Given the description of an element on the screen output the (x, y) to click on. 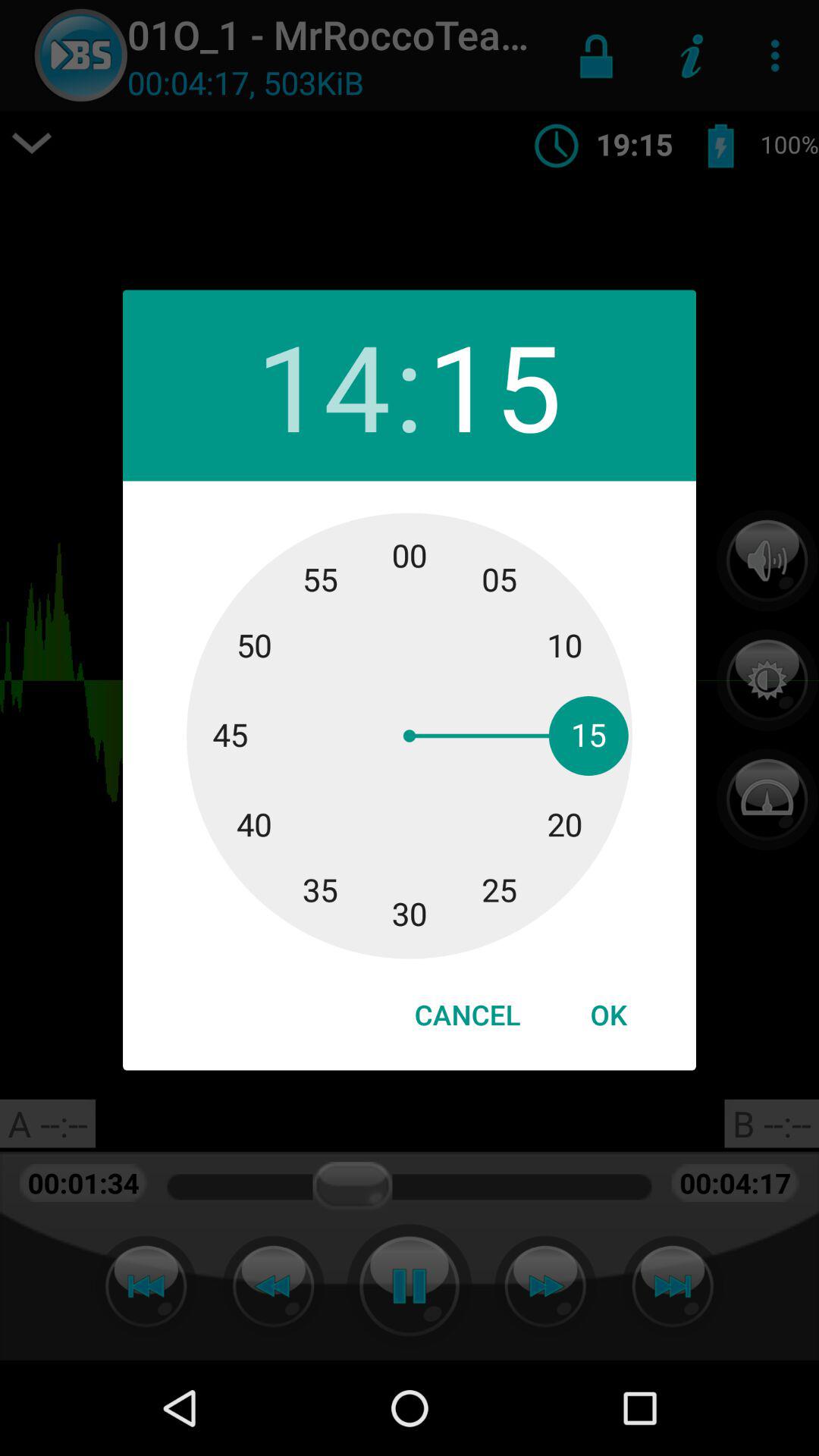
select icon next to ok icon (467, 1014)
